Given the description of an element on the screen output the (x, y) to click on. 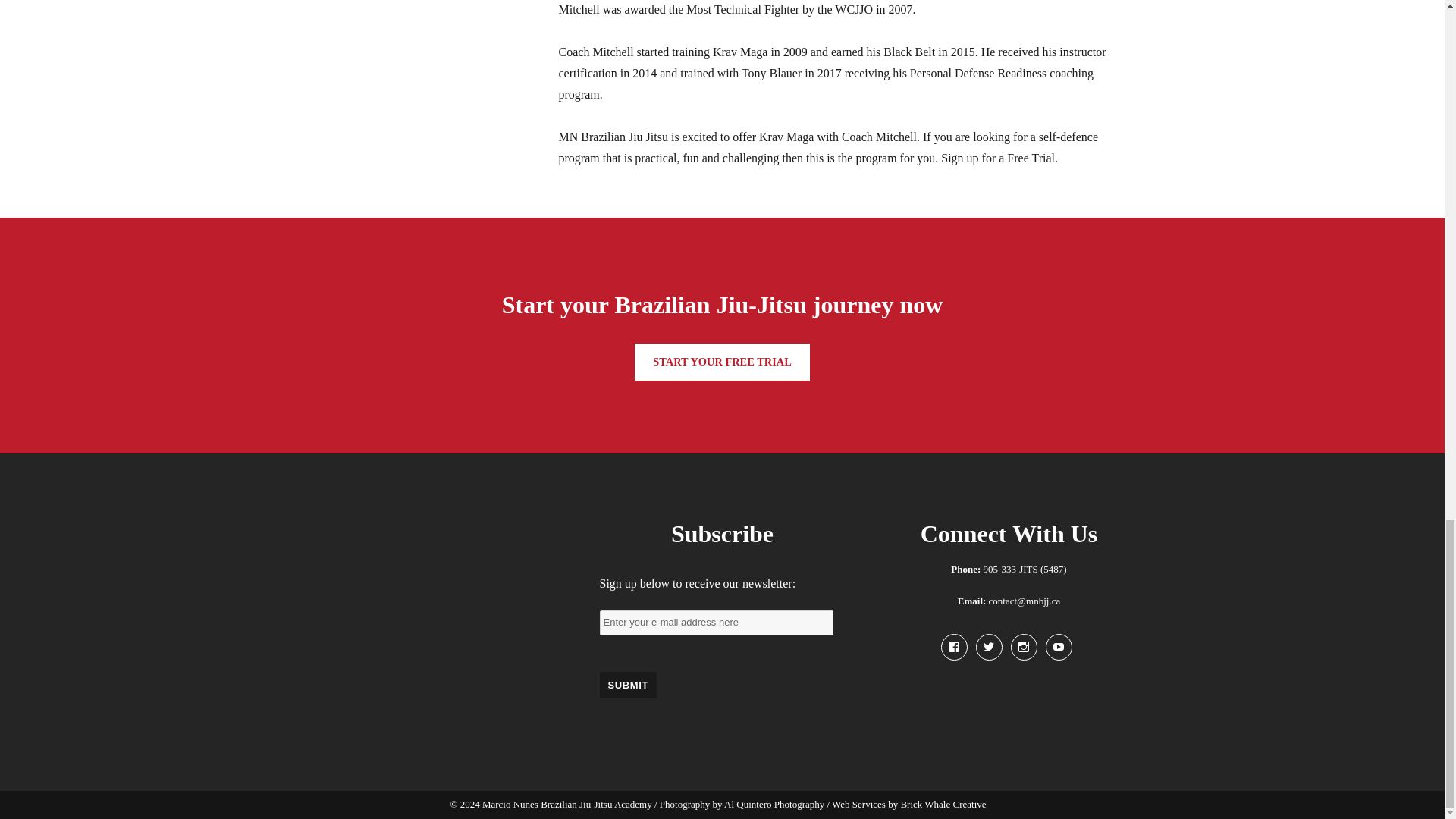
Submit (627, 684)
